Given the description of an element on the screen output the (x, y) to click on. 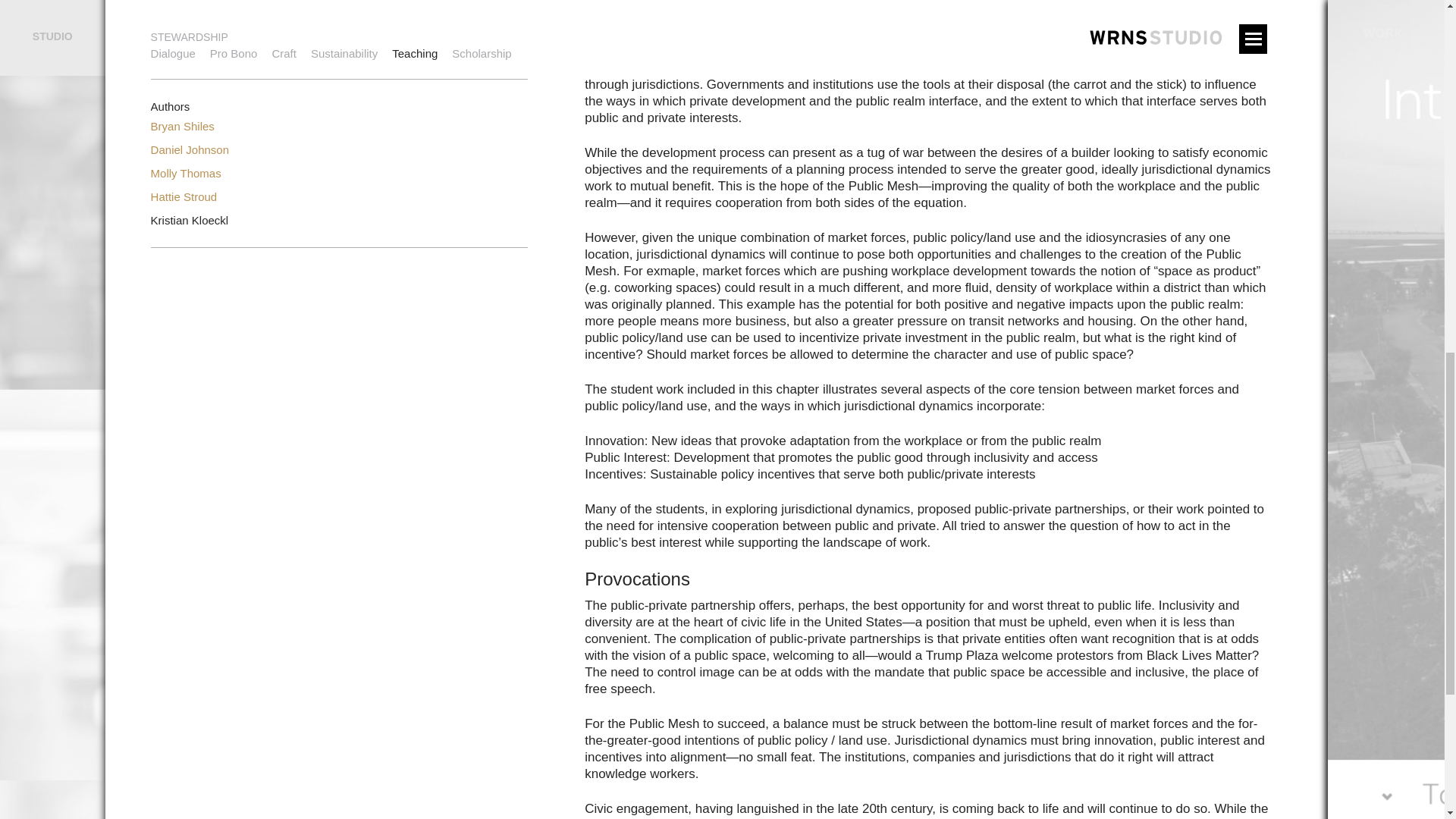
Email (366, 37)
Bryan Shiles (182, 125)
Facebook (426, 37)
Twitter (456, 37)
Daniel Johnson (189, 149)
Molly Thomas (186, 173)
Pinterest (397, 37)
Hattie Stroud (183, 196)
